Given the description of an element on the screen output the (x, y) to click on. 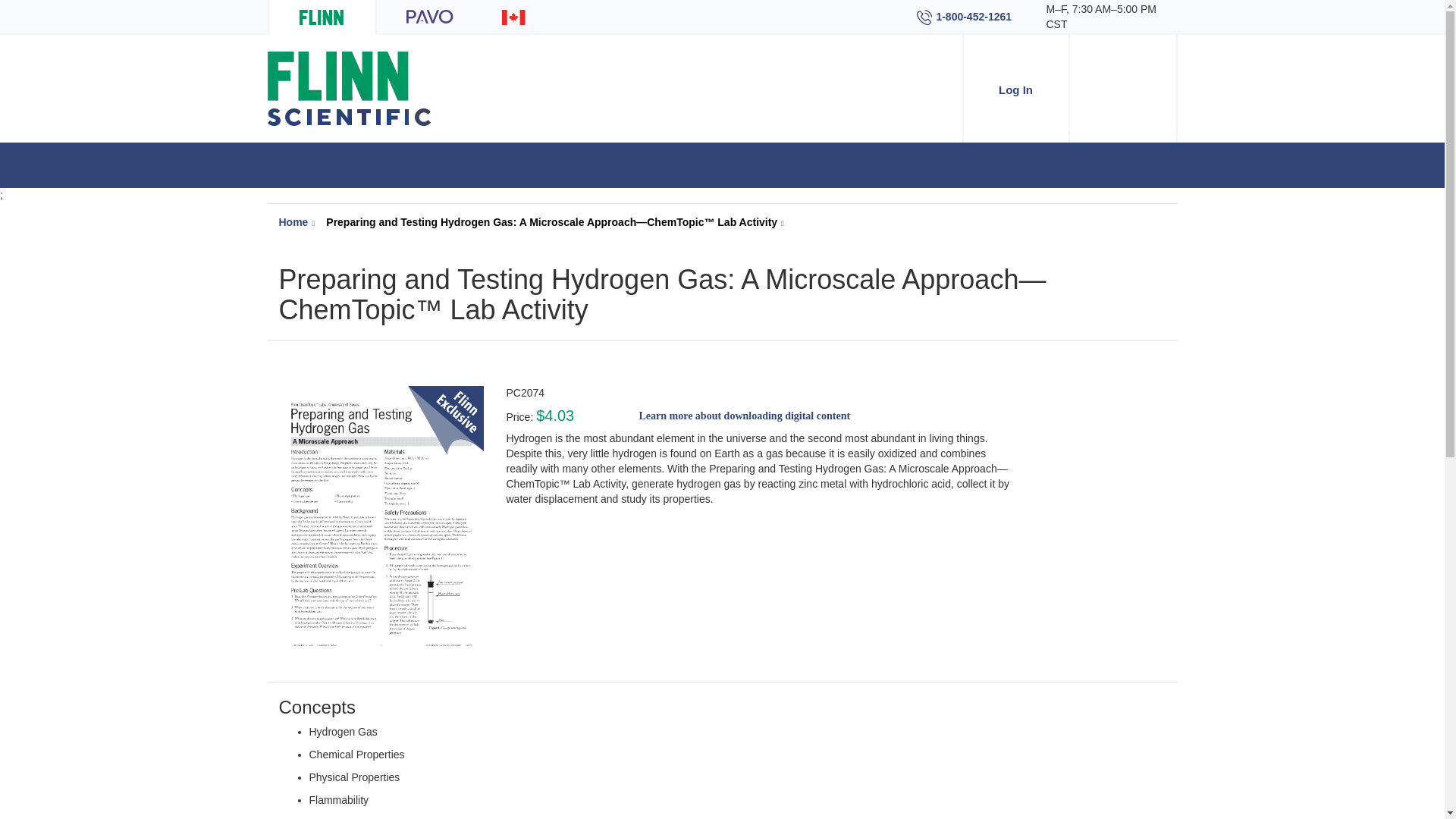
SDS (1148, 133)
Safety (1087, 133)
1-800-452-1261 (962, 16)
